Given the description of an element on the screen output the (x, y) to click on. 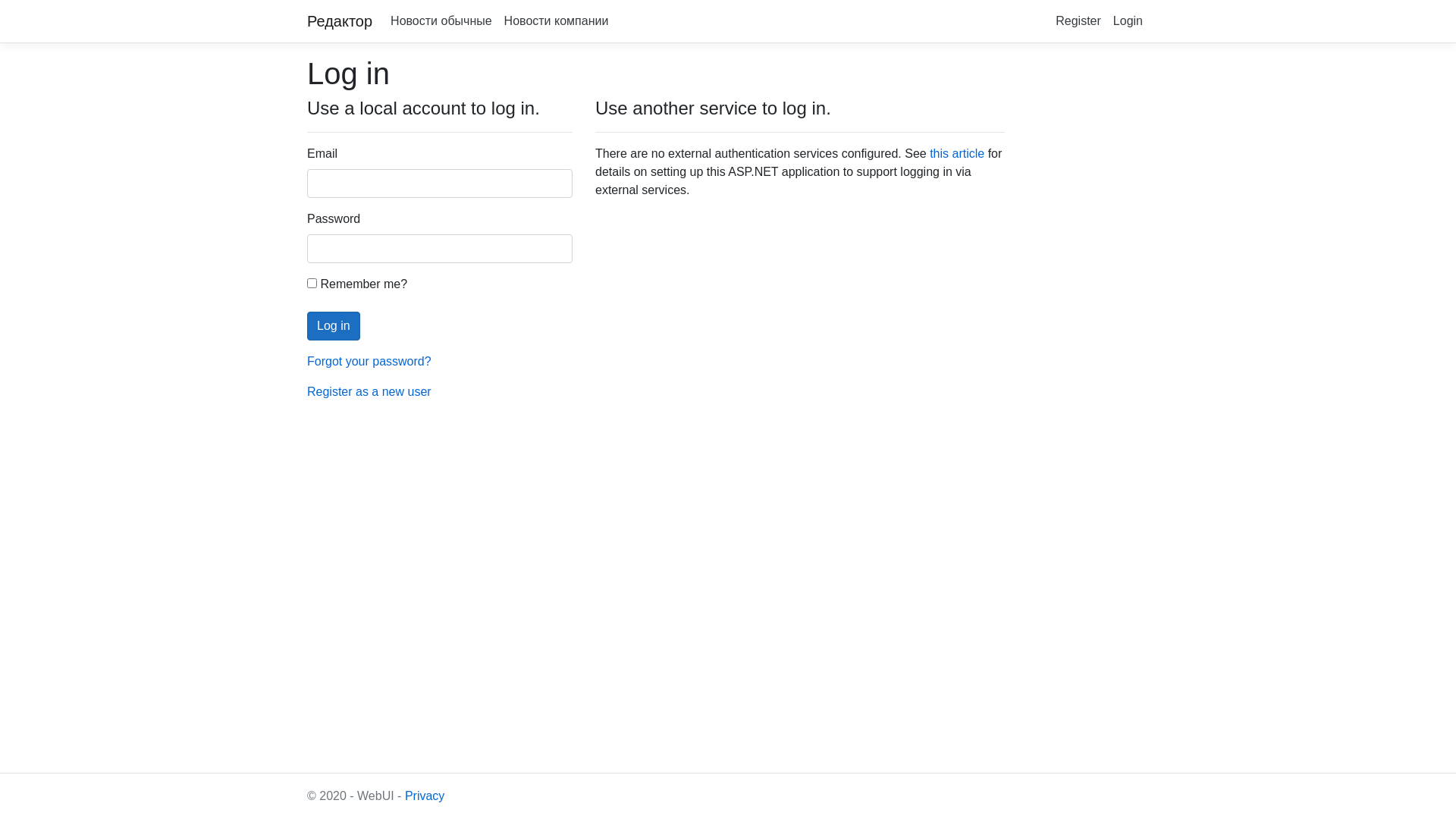
Login Element type: text (1127, 21)
Forgot your password? Element type: text (369, 360)
this article Element type: text (956, 153)
Register Element type: text (1078, 21)
Log in Element type: text (333, 325)
Register as a new user Element type: text (369, 391)
Privacy Element type: text (424, 795)
